Given the description of an element on the screen output the (x, y) to click on. 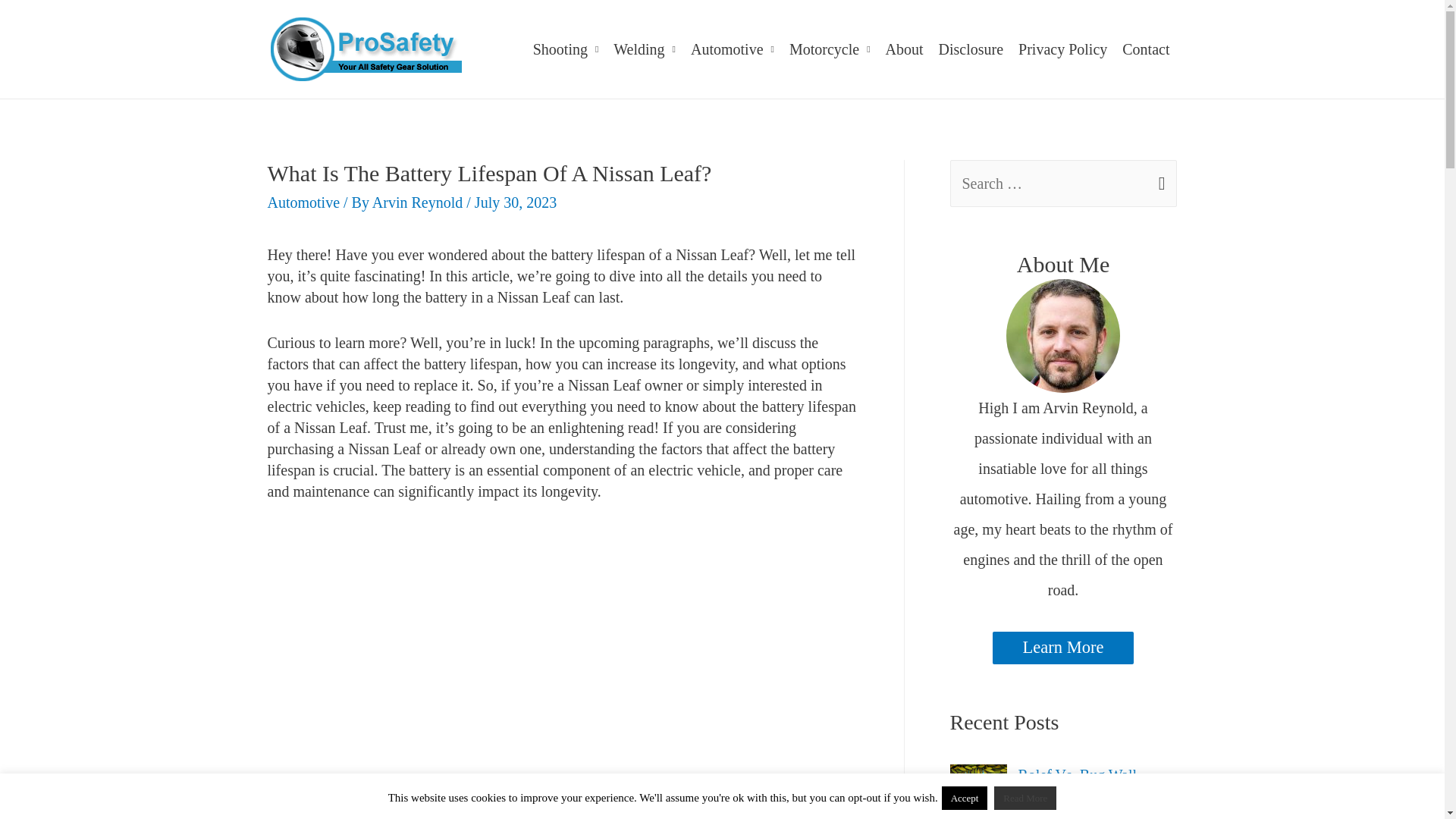
Search (1158, 176)
Automotive (731, 49)
Motorcycle (829, 49)
Search (1158, 176)
View all posts by Arvin Reynold (418, 202)
